Given the description of an element on the screen output the (x, y) to click on. 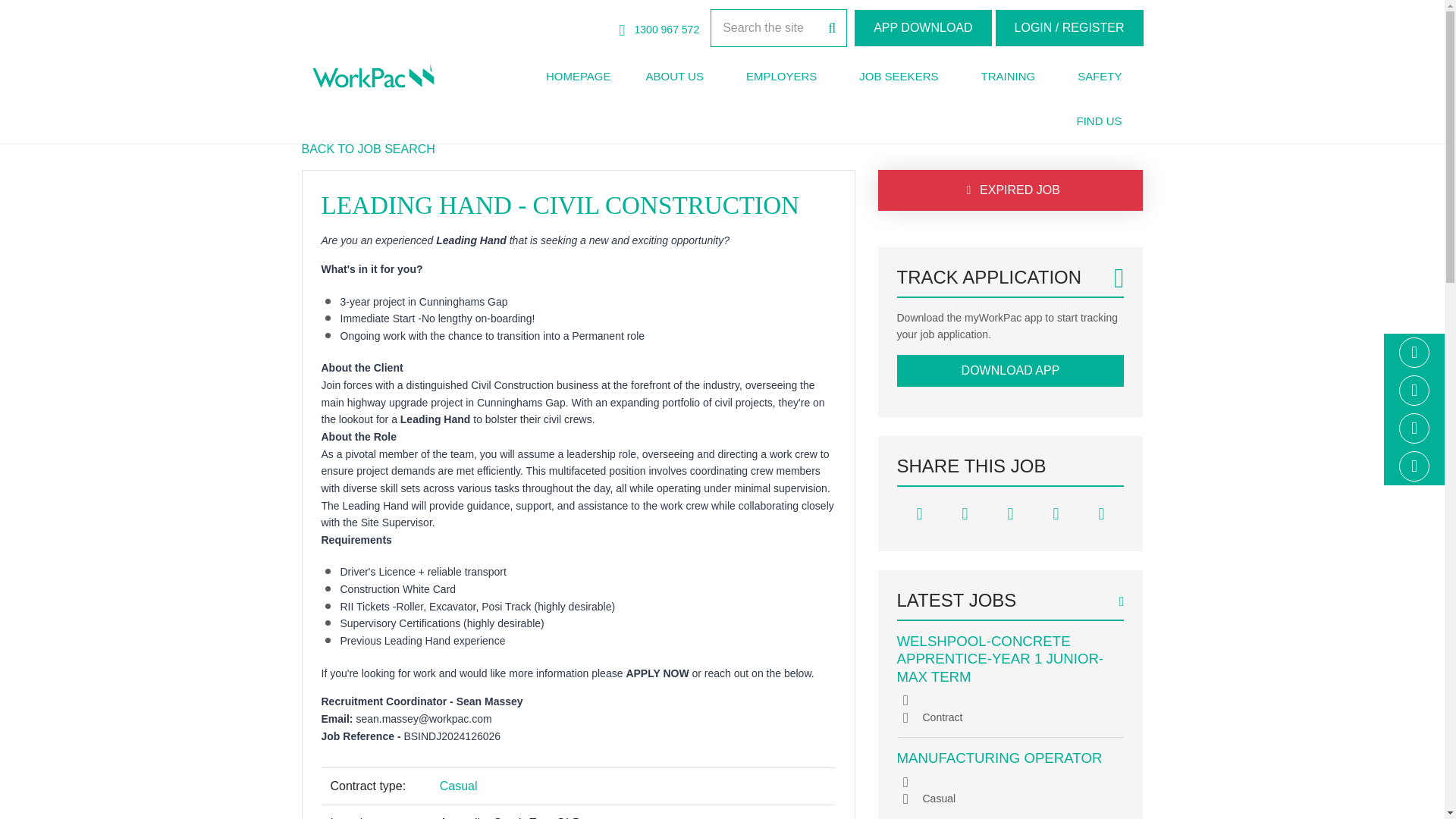
1300 967 572 (660, 29)
WELSHPOOL-Concrete Apprentice-Year 1 Junior-Max Term (999, 658)
Facebook (1413, 352)
Dashboard (1068, 27)
Linkedin (1413, 390)
HOMEPAGE (578, 76)
WorkPac Recruitment (373, 75)
EMPLOYERS (781, 76)
Manufacturing Operator (999, 757)
Dashboard (922, 27)
APP DOWNLOAD (922, 27)
JOB SEEKERS (898, 76)
ABOUT US (673, 76)
